Given the description of an element on the screen output the (x, y) to click on. 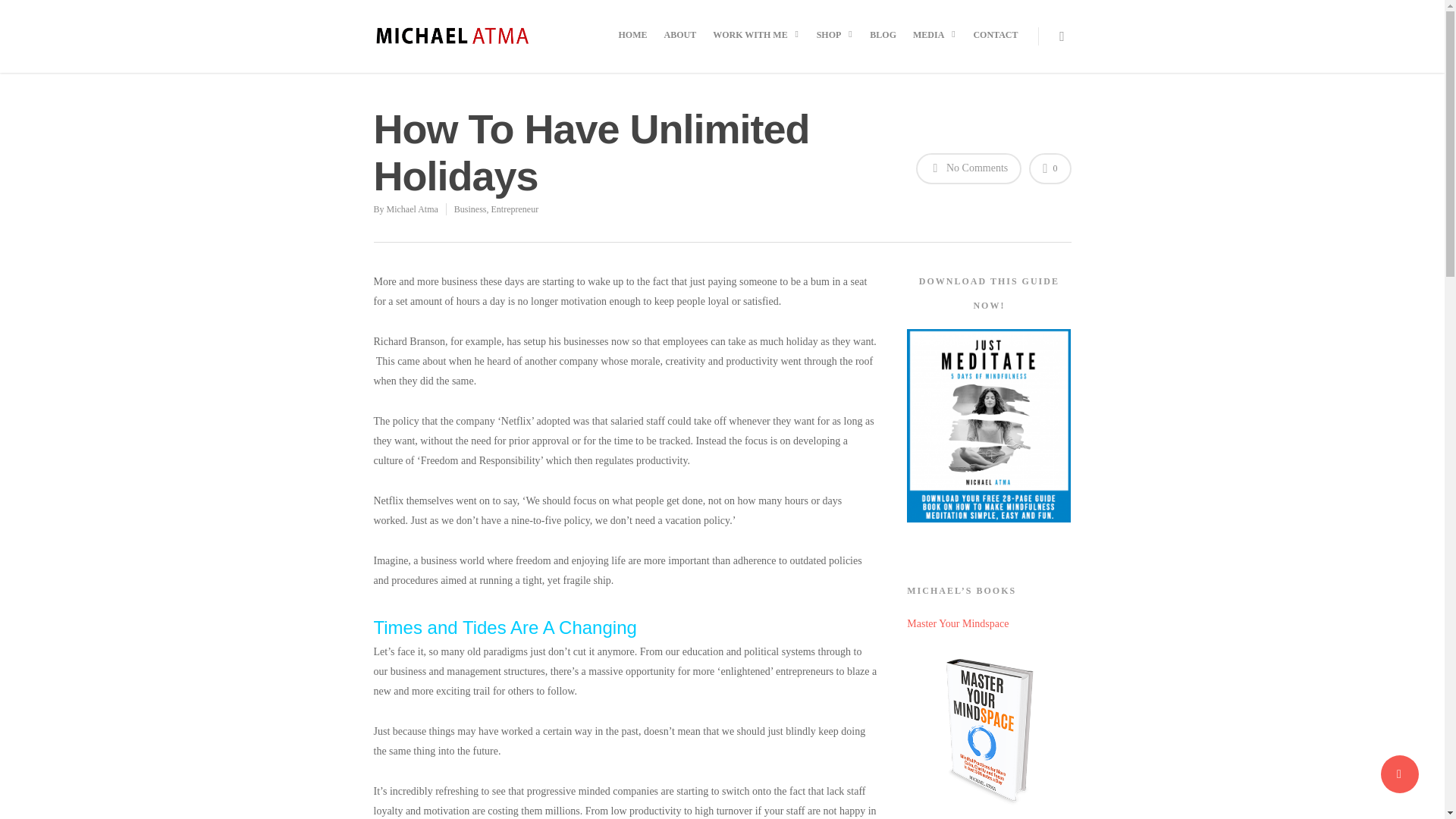
SHOP (835, 46)
ABOUT (680, 45)
Love this (1049, 168)
HOME (633, 45)
Posts by Michael Atma (412, 208)
WORK WITH ME (755, 46)
CONTACT (995, 45)
MEDIA (934, 46)
